Given the description of an element on the screen output the (x, y) to click on. 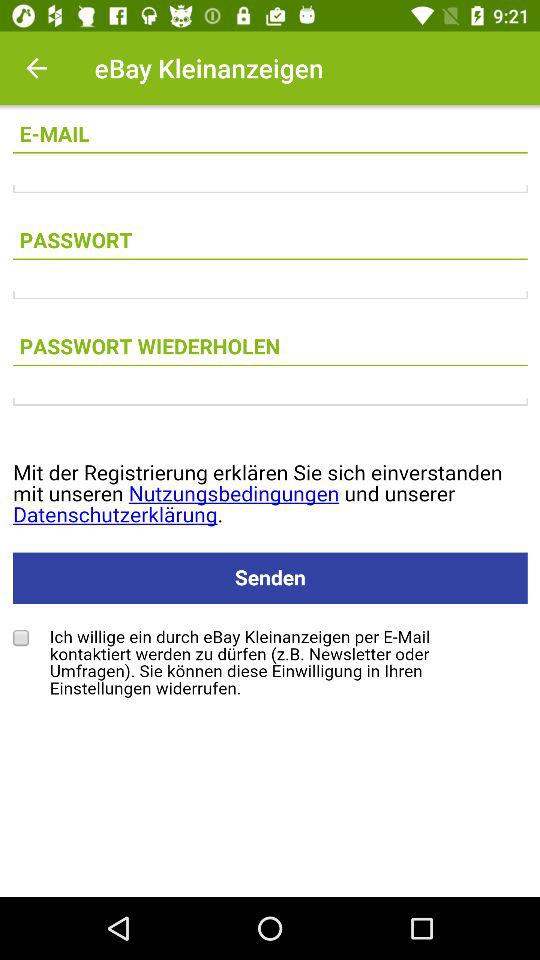
login (270, 402)
